Given the description of an element on the screen output the (x, y) to click on. 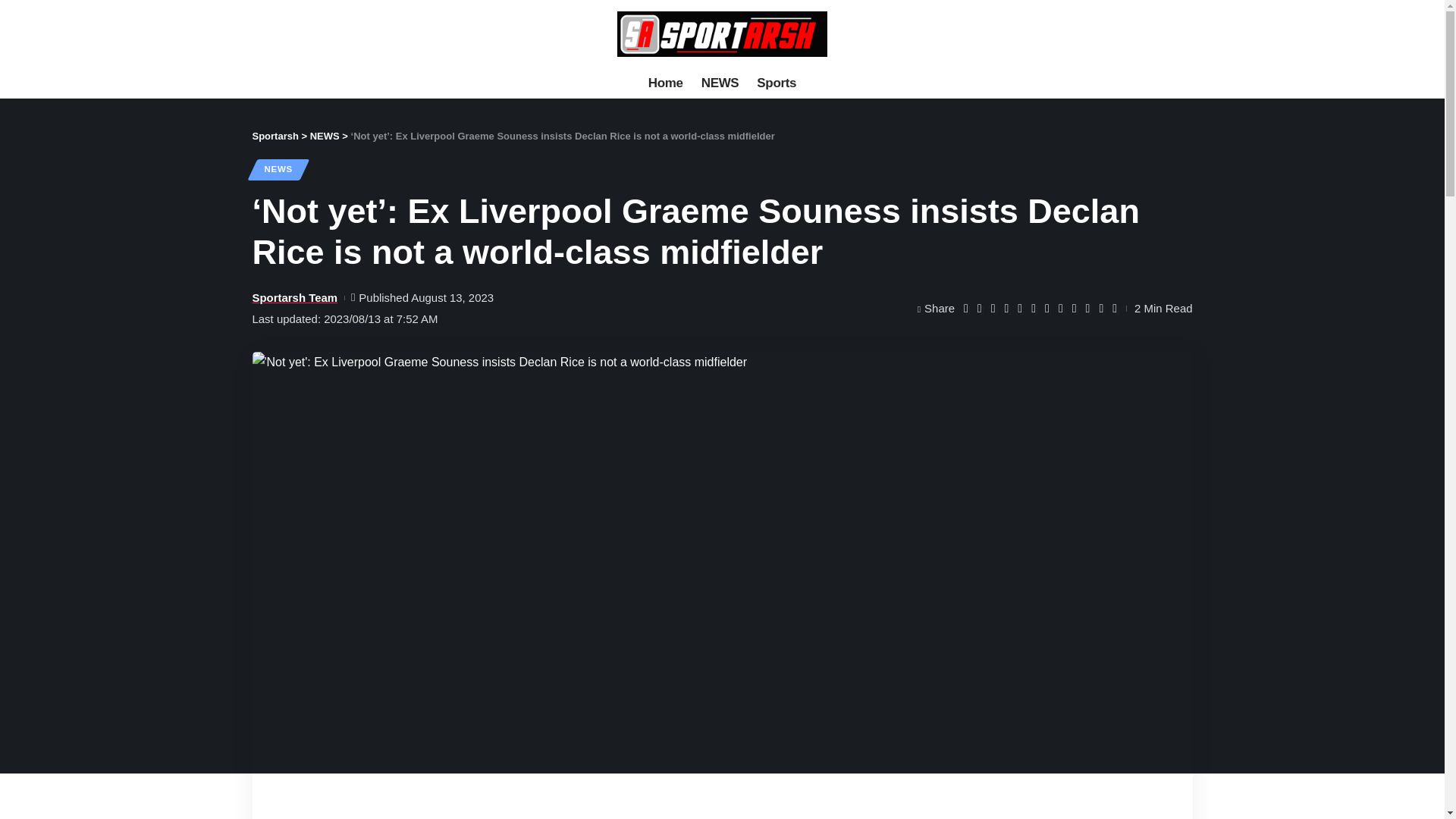
Sportarsh (722, 33)
Aa (1169, 33)
Go to the NEWS Category archives. (324, 135)
NEWS (720, 82)
Sports (776, 82)
Go to Sportarsh. (274, 135)
Home (666, 82)
